Given the description of an element on the screen output the (x, y) to click on. 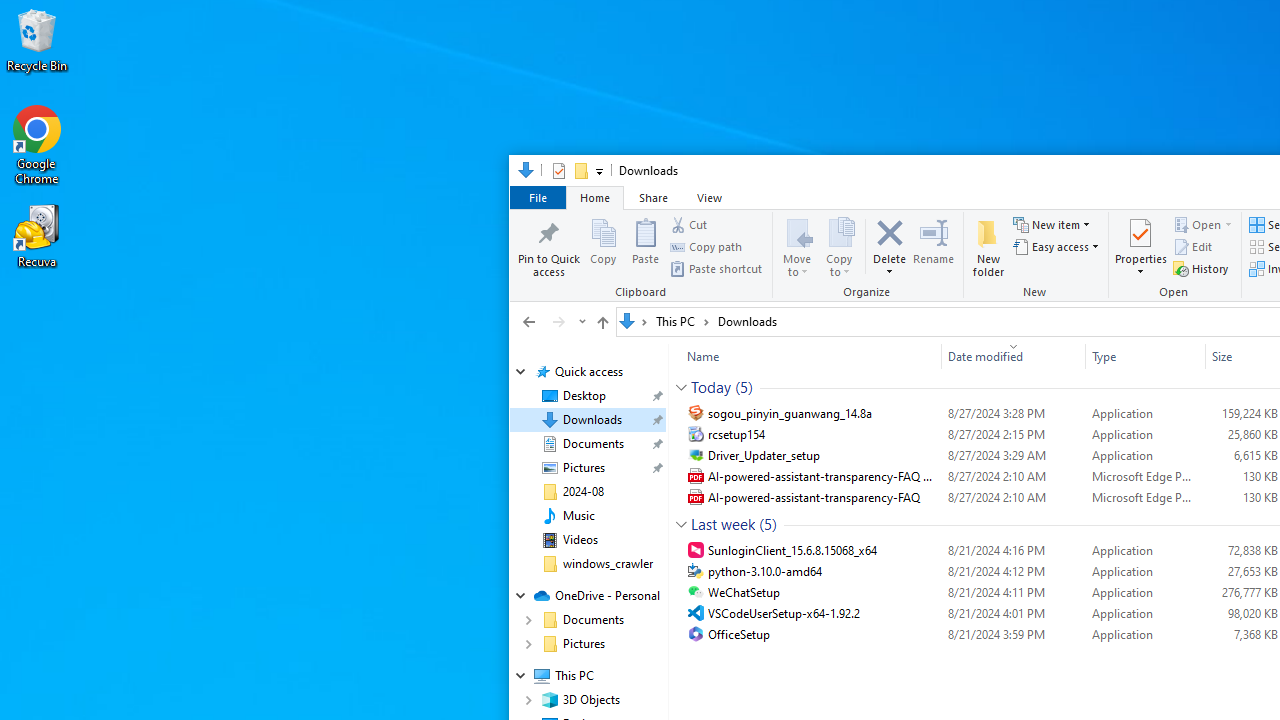
History (1200, 268)
Up to "This PC" (Alt + Up Arrow) (602, 322)
windows_crawler (607, 564)
Cut (688, 224)
All locations (633, 321)
System (520, 173)
New item (1051, 224)
Navigation buttons (552, 321)
Desktop (pinned) (584, 395)
Paste (645, 246)
Properties (1141, 265)
Rename (934, 246)
Type (1145, 634)
Name (805, 356)
Clipboard (643, 255)
